Given the description of an element on the screen output the (x, y) to click on. 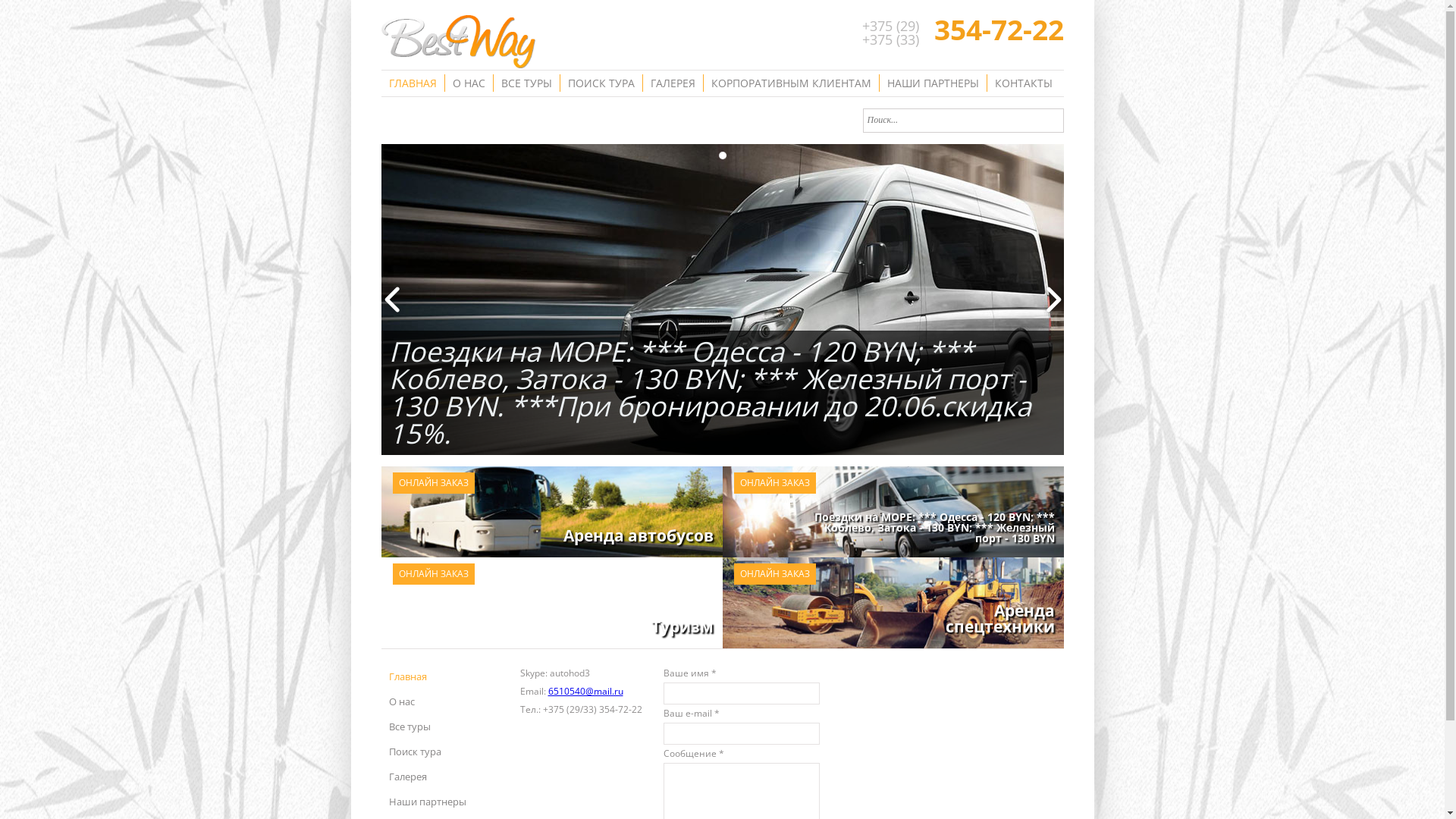
6510540@mail.ru Element type: text (584, 690)
